Given the description of an element on the screen output the (x, y) to click on. 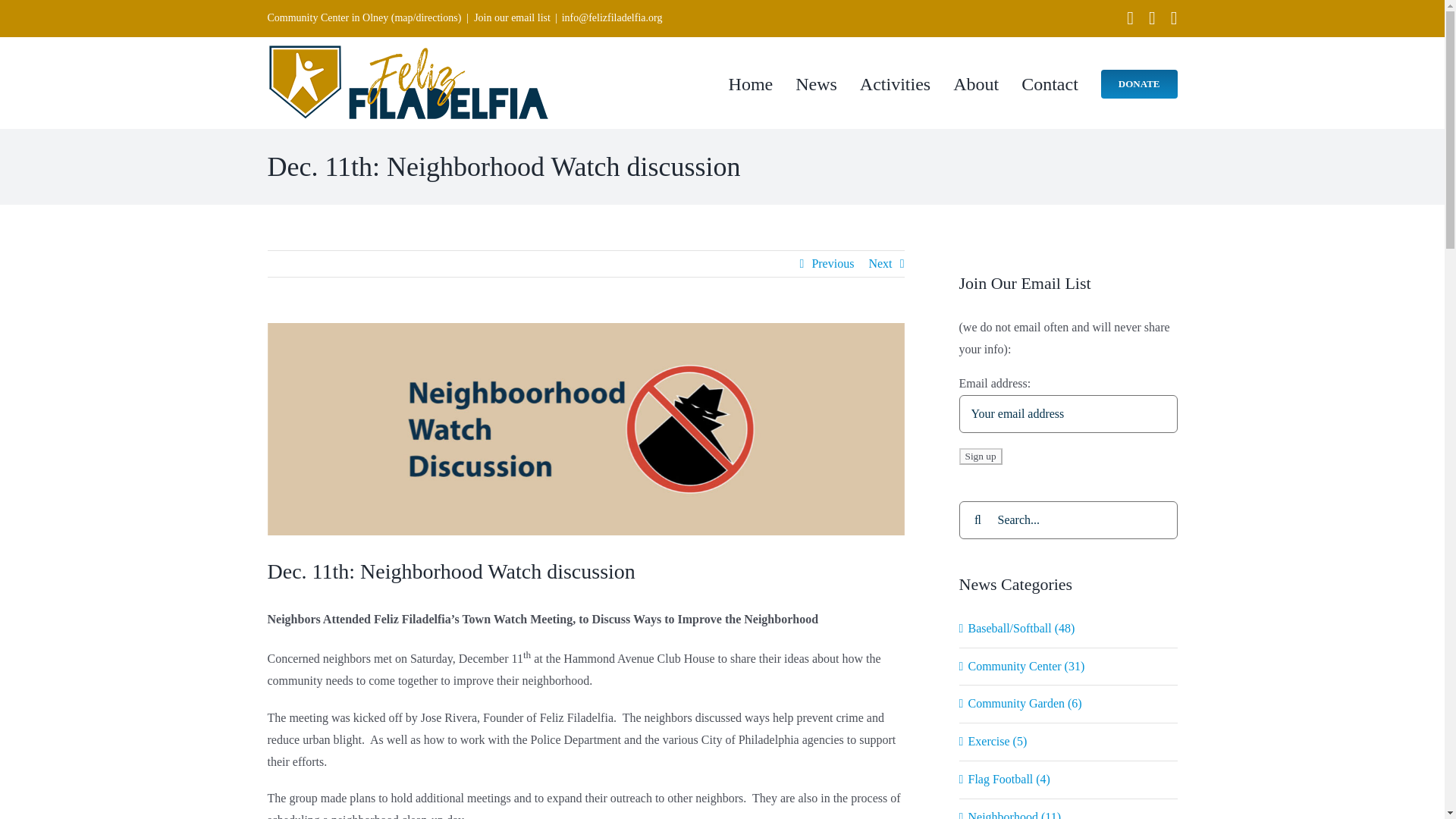
Contact (1050, 81)
YouTube (1173, 18)
Instagram (1152, 18)
About (975, 81)
Home (751, 81)
Facebook (1130, 18)
Facebook (1130, 18)
YouTube (1173, 18)
DONATE (1138, 81)
Sign up (979, 456)
Activities (895, 81)
Instagram (1152, 18)
Join our email list (512, 17)
News (815, 81)
